Given the description of an element on the screen output the (x, y) to click on. 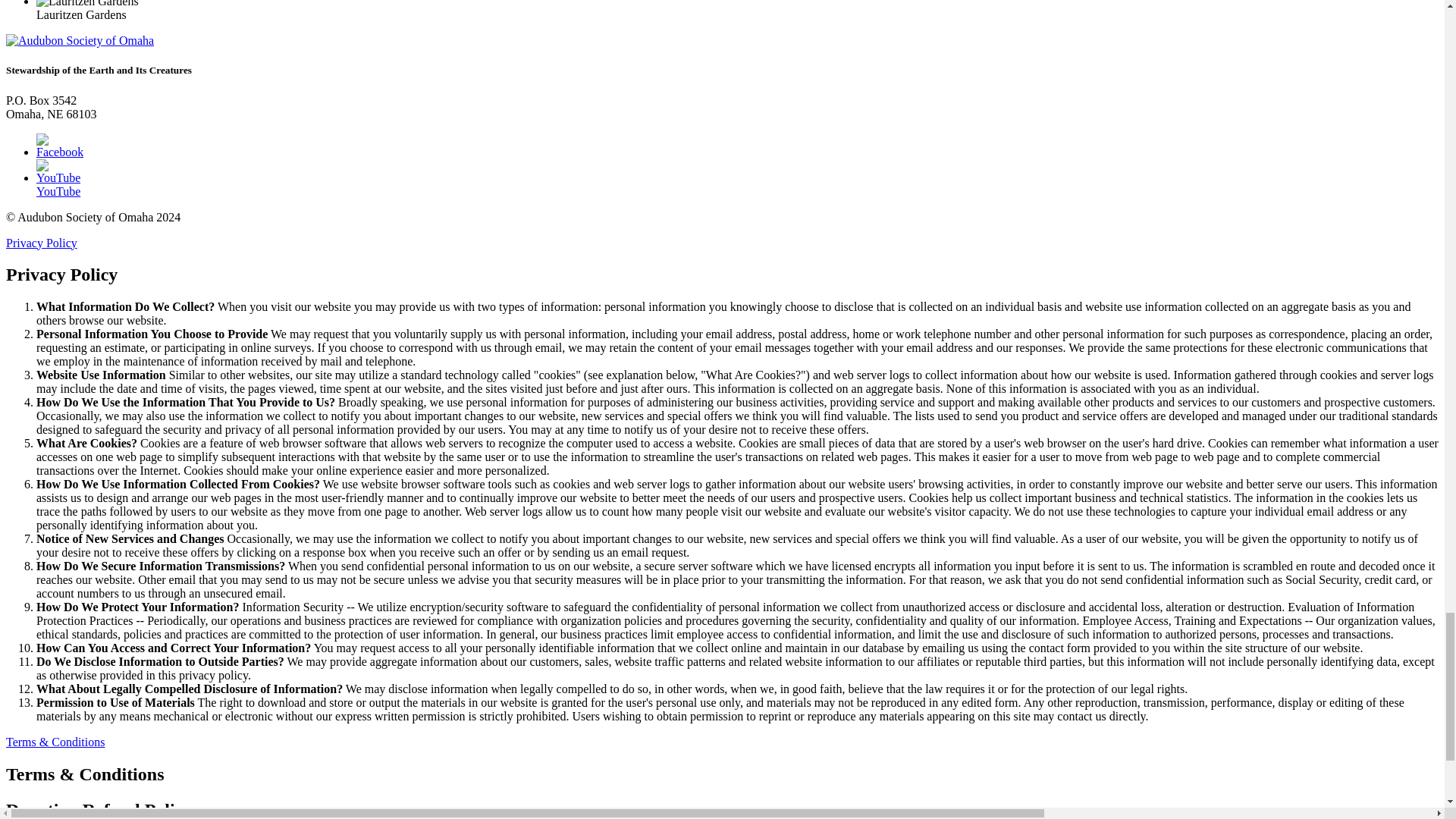
logo (79, 40)
